Given the description of an element on the screen output the (x, y) to click on. 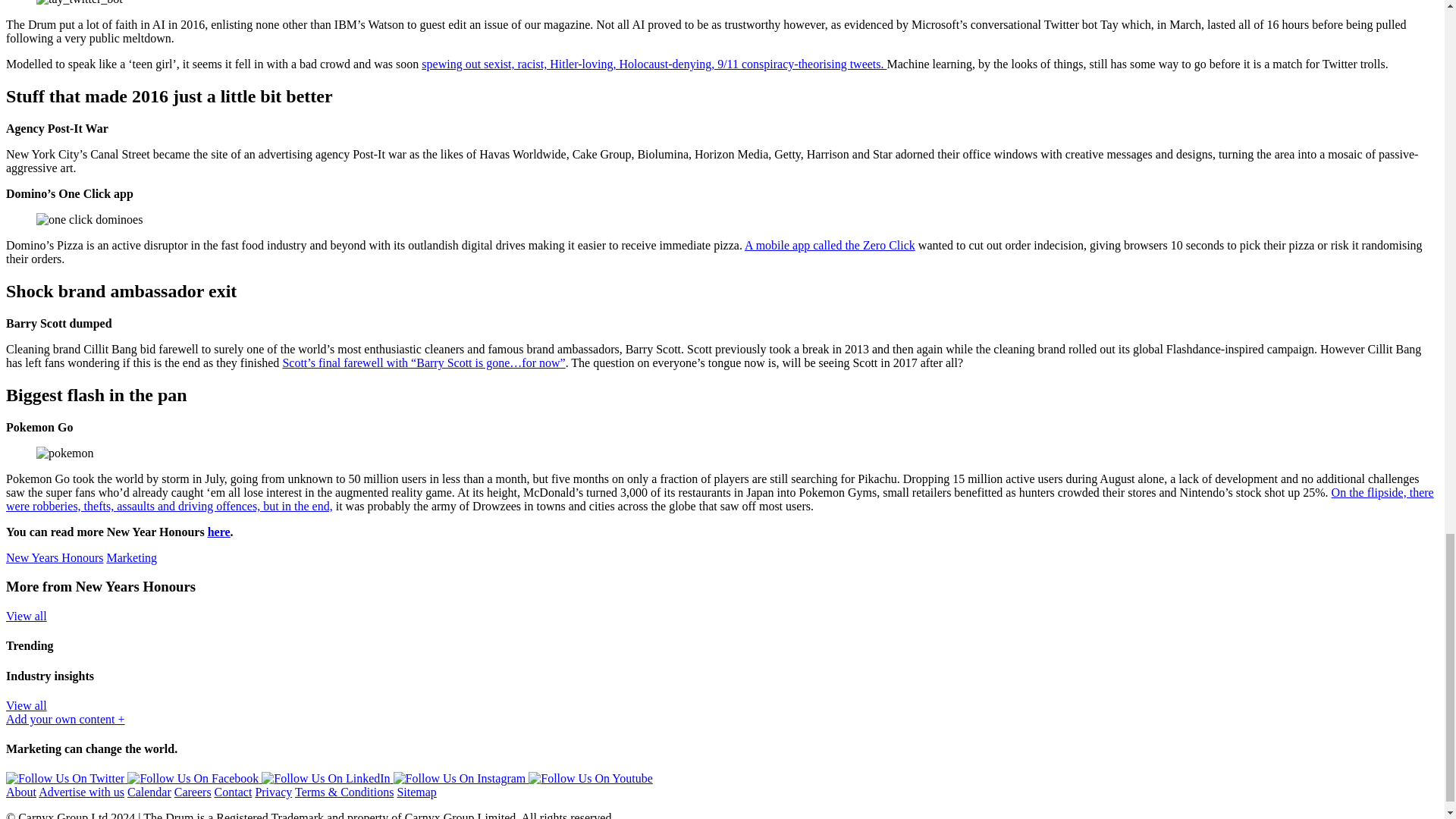
Marketing (131, 557)
View all (25, 705)
here (219, 531)
View all (25, 615)
A mobile app called the Zero Click (829, 245)
pokemon (65, 453)
New Years Honours (54, 557)
one click dominoes (89, 219)
